Given the description of an element on the screen output the (x, y) to click on. 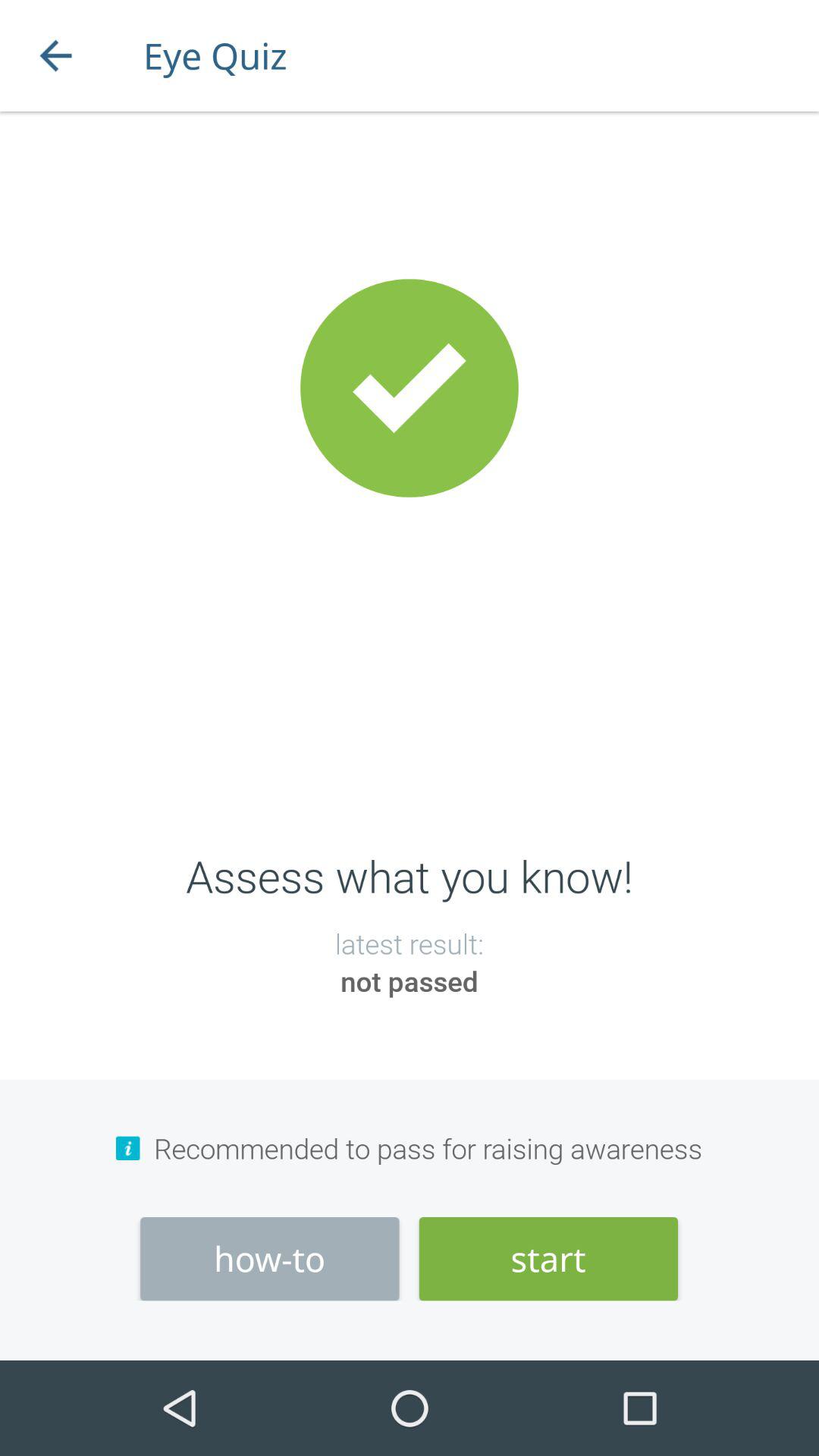
press the item at the bottom right corner (548, 1258)
